Given the description of an element on the screen output the (x, y) to click on. 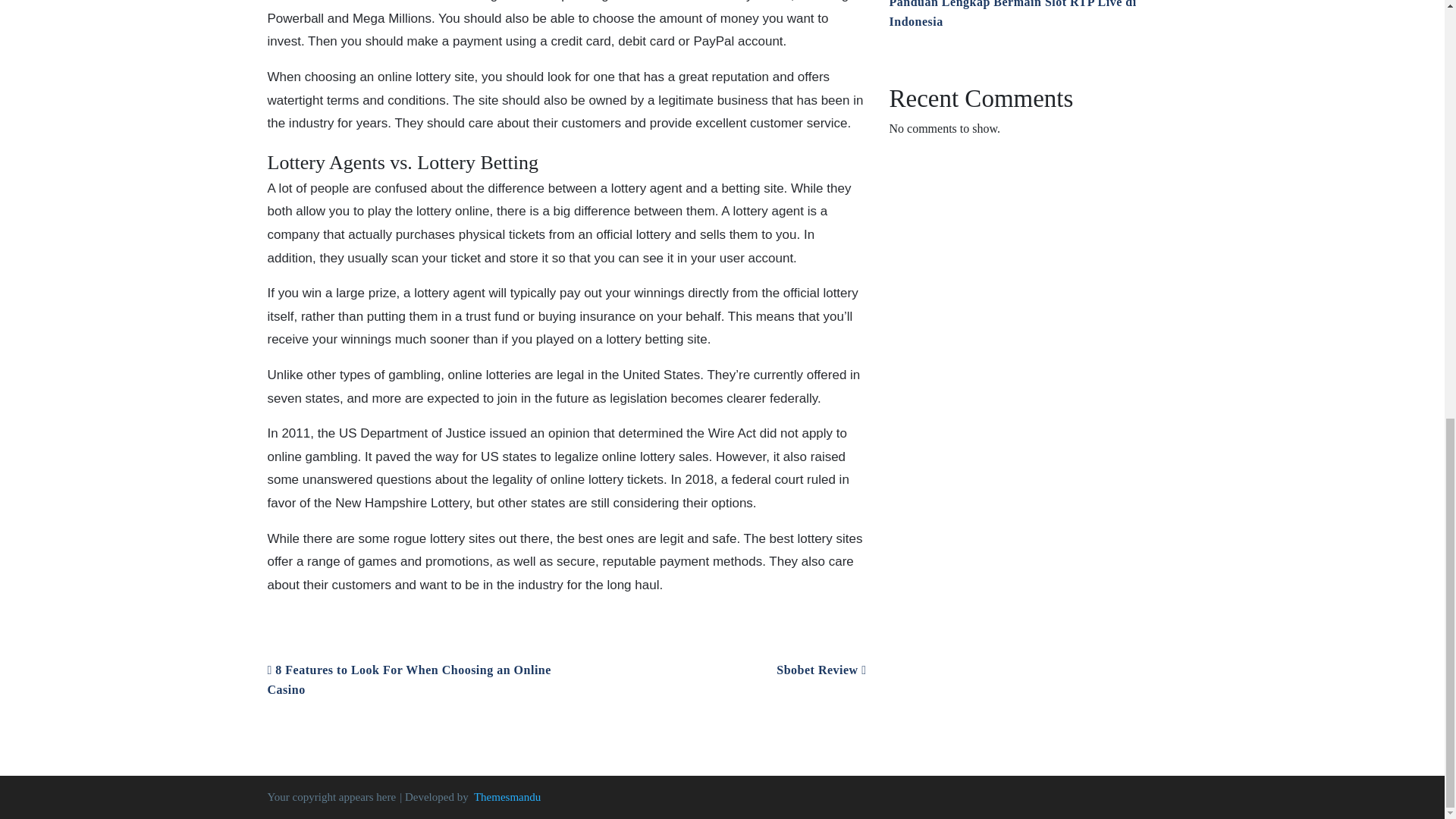
Sbobet Review (821, 669)
Themesmandu (507, 796)
8 Features to Look For When Choosing an Online Casino (408, 679)
Panduan Lengkap Bermain Slot RTP Live di Indonesia (1011, 13)
